Given the description of an element on the screen output the (x, y) to click on. 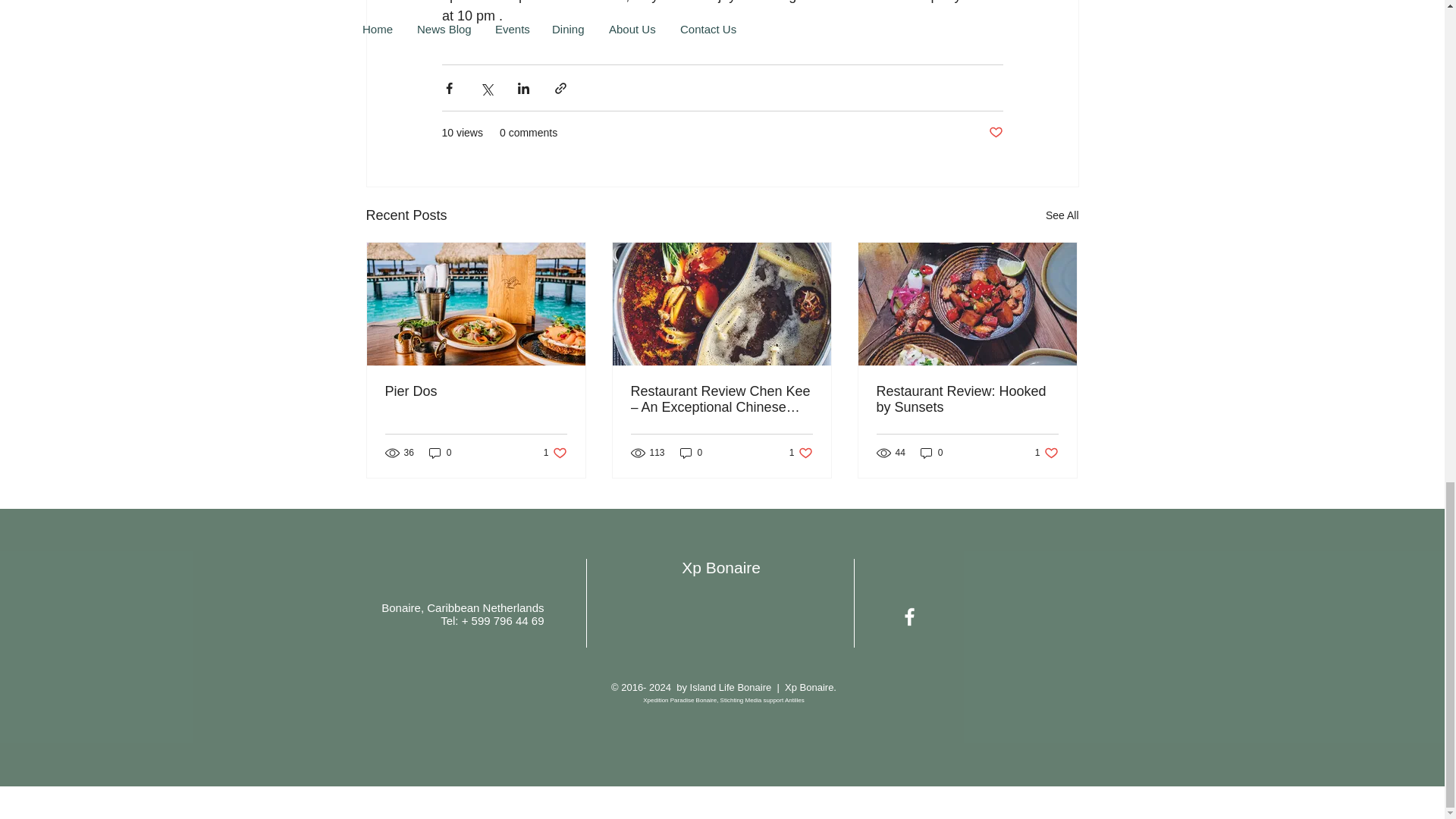
Post not marked as liked (995, 132)
0 (440, 452)
0 (931, 452)
Xp Bonaire  (723, 567)
0 (691, 452)
Restaurant Review: Hooked by Sunsets (967, 399)
Pier Dos (1046, 452)
See All (555, 452)
